Given the description of an element on the screen output the (x, y) to click on. 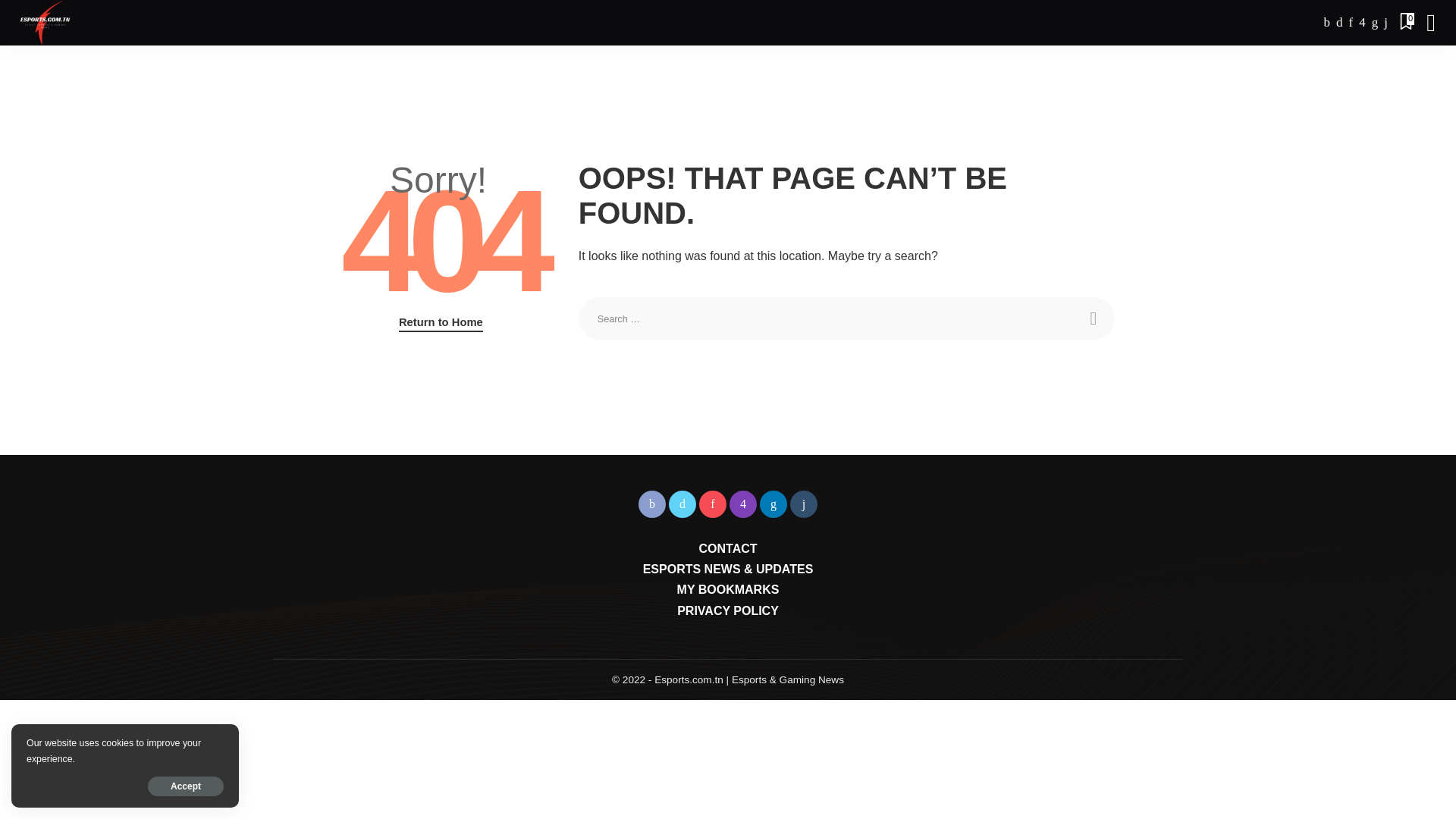
Return to Home (440, 322)
Search (1093, 318)
Search (1093, 318)
